Given the description of an element on the screen output the (x, y) to click on. 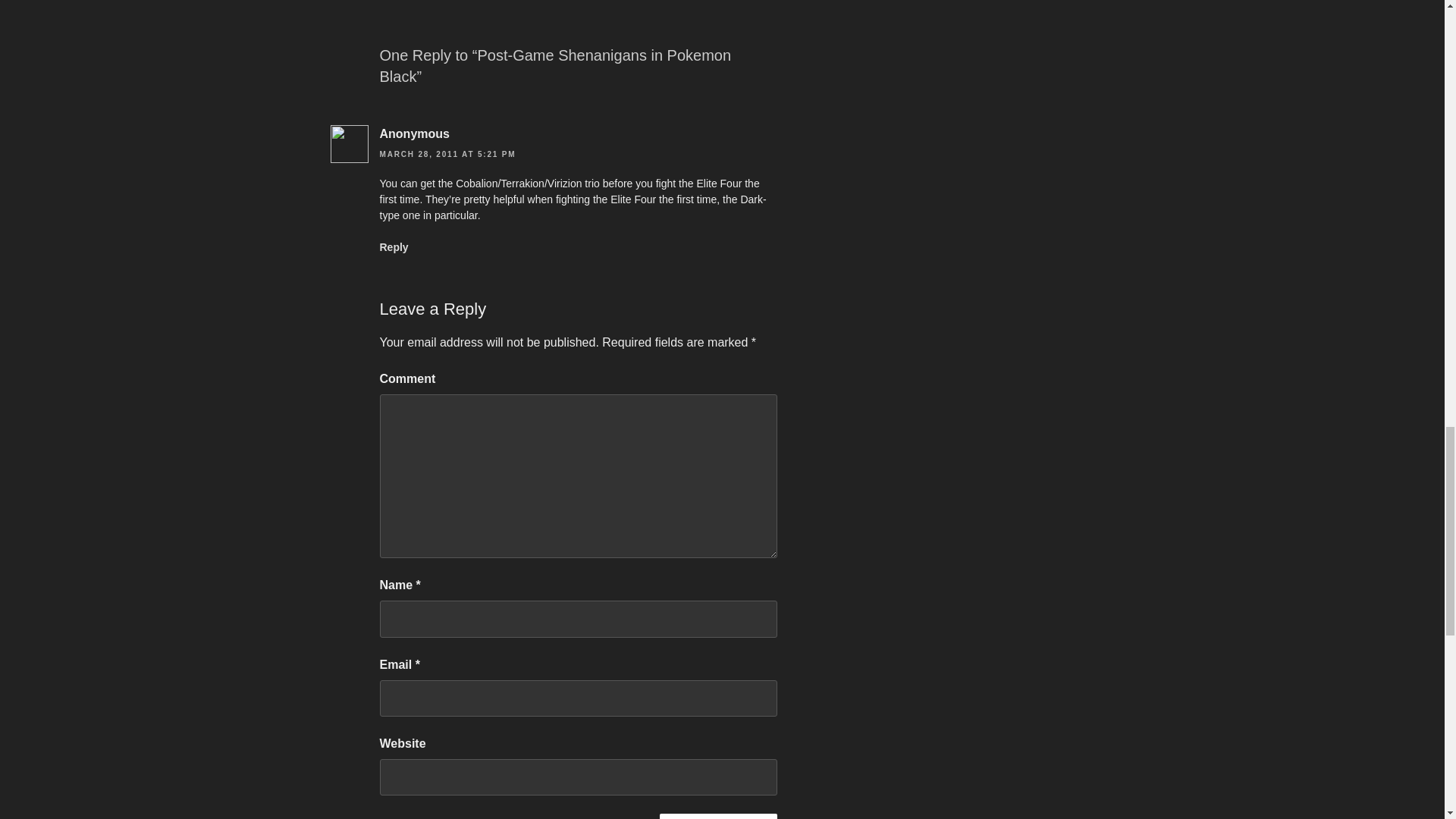
Post Comment (718, 816)
Reply (392, 246)
Post Comment (718, 816)
MARCH 28, 2011 AT 5:21 PM (446, 153)
